Given the description of an element on the screen output the (x, y) to click on. 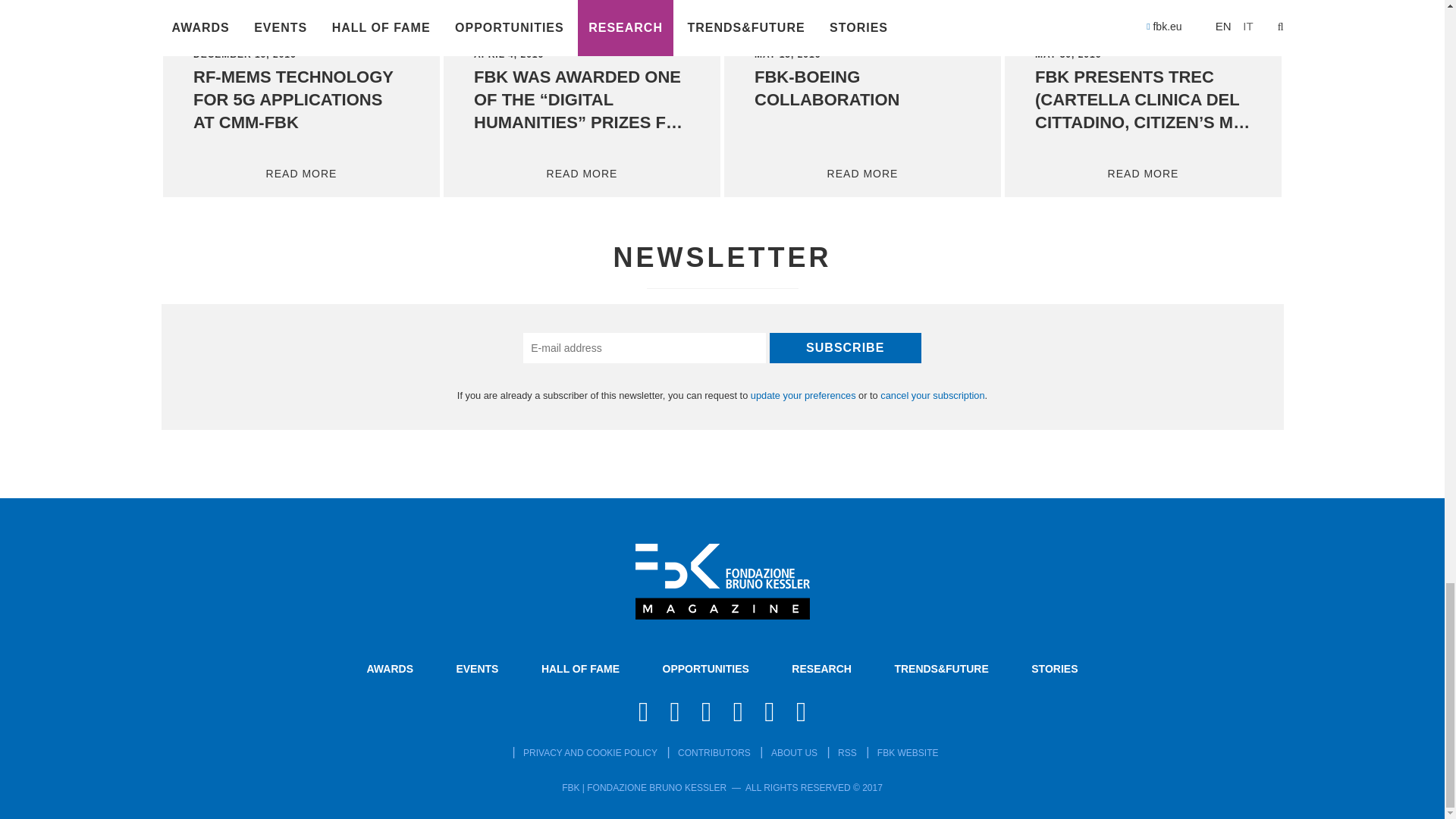
SUBSCRIBE (845, 347)
